Given the description of an element on the screen output the (x, y) to click on. 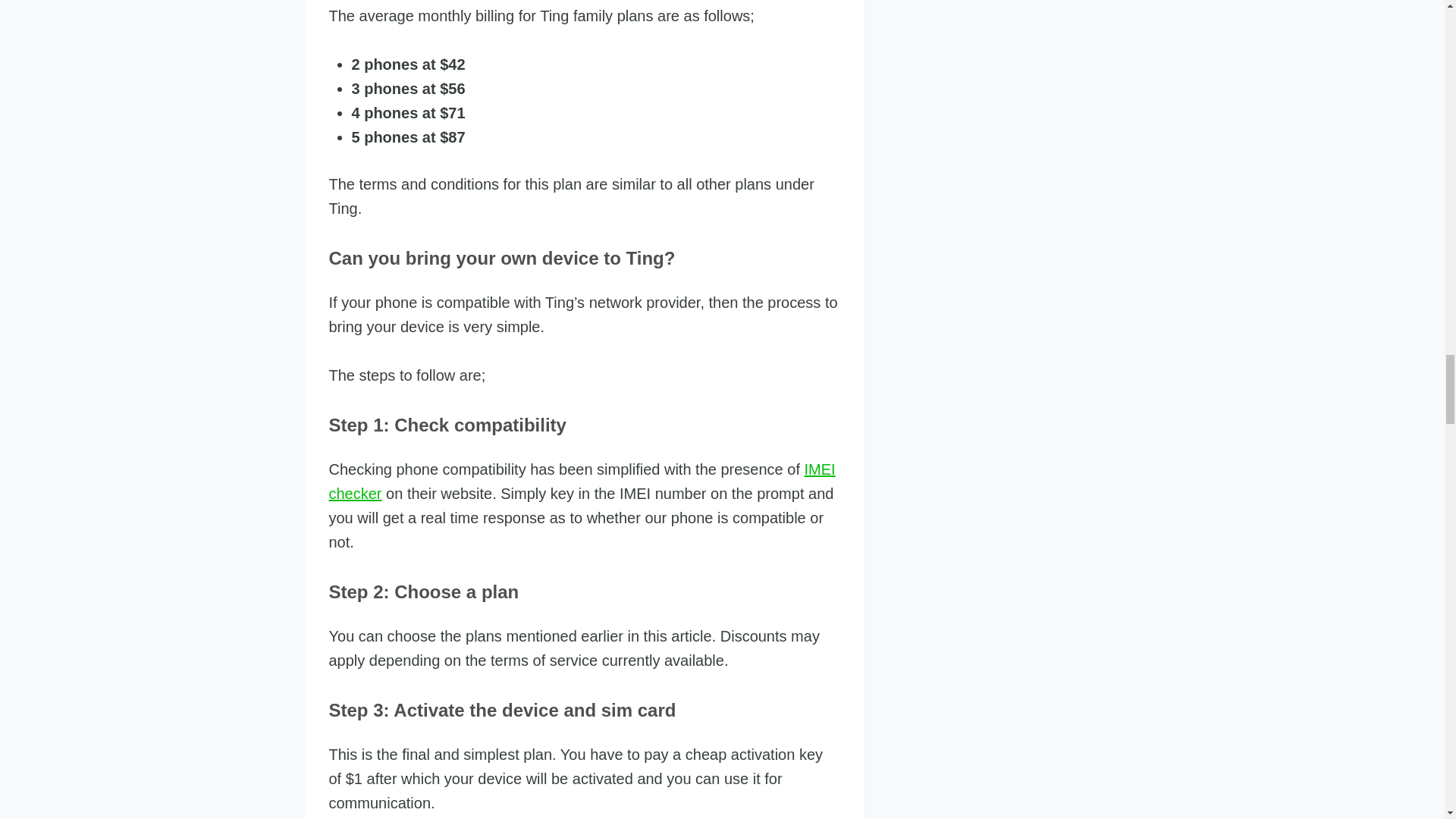
IMEI checker (582, 481)
